Given the description of an element on the screen output the (x, y) to click on. 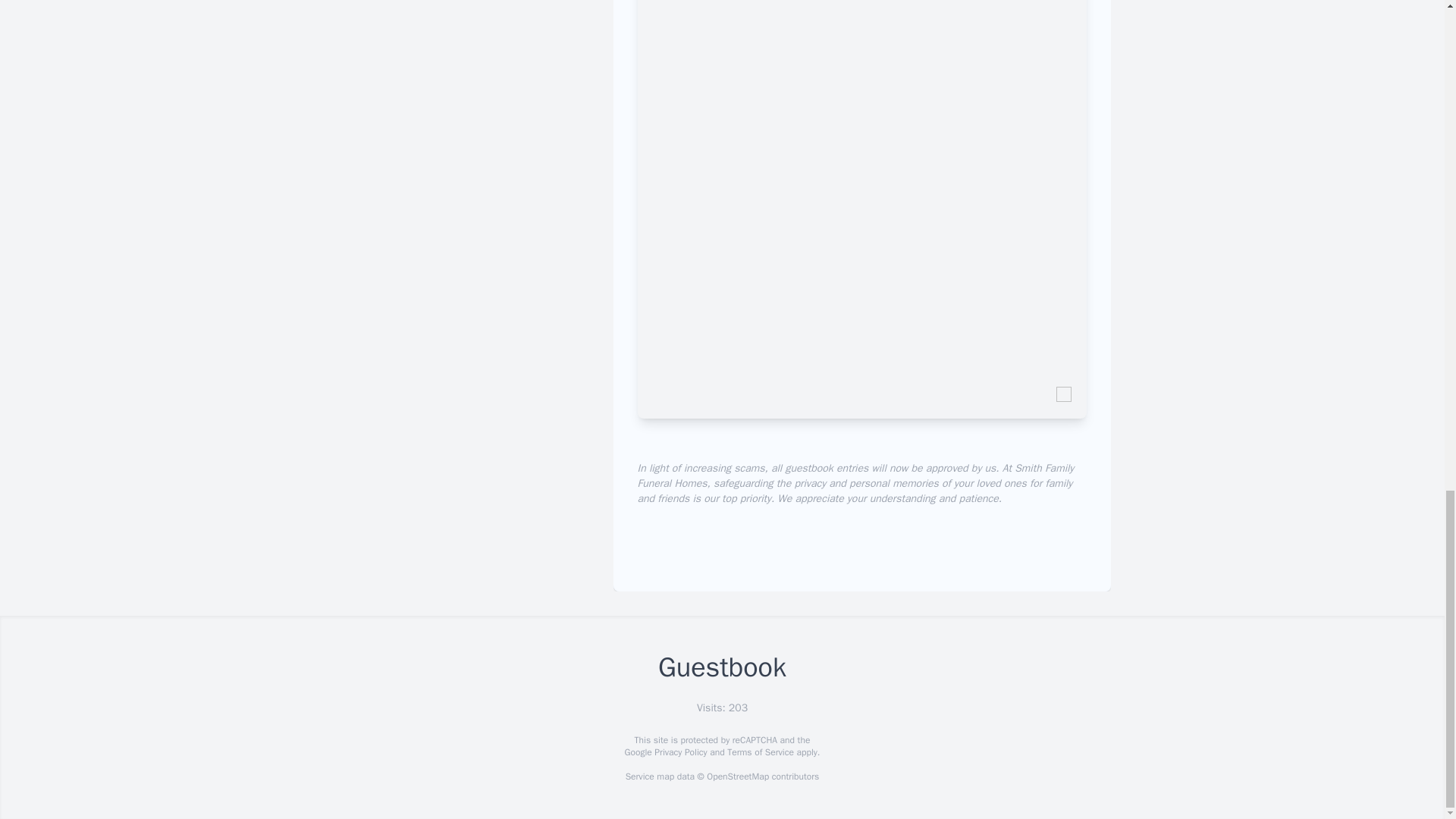
Terms of Service (759, 752)
OpenStreetMap (737, 776)
Privacy Policy (679, 752)
